Given the description of an element on the screen output the (x, y) to click on. 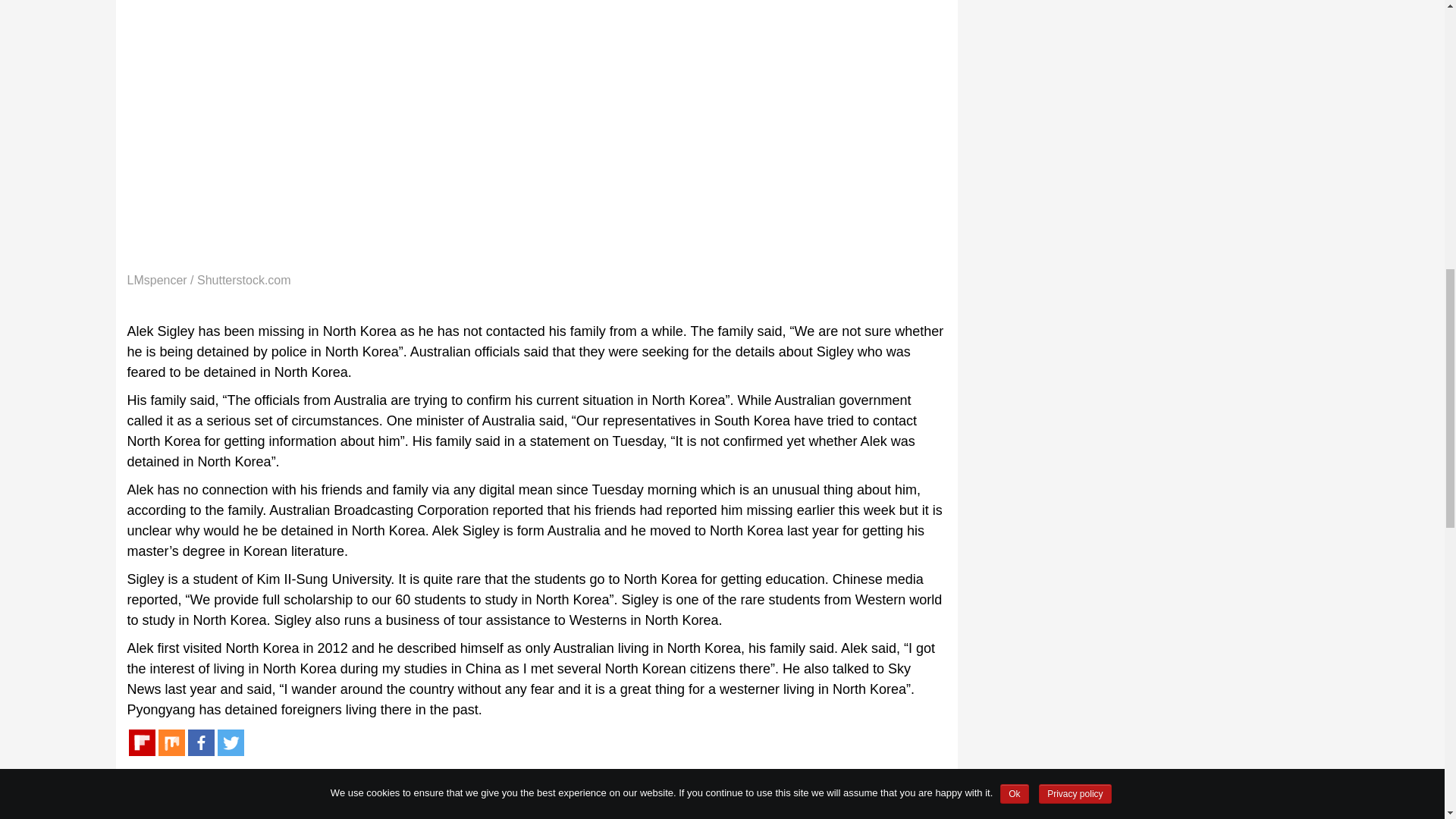
Facebook (200, 742)
Adyson Sipes (225, 786)
Mix (170, 742)
Twitter (229, 742)
Flipboard (142, 742)
